Given the description of an element on the screen output the (x, y) to click on. 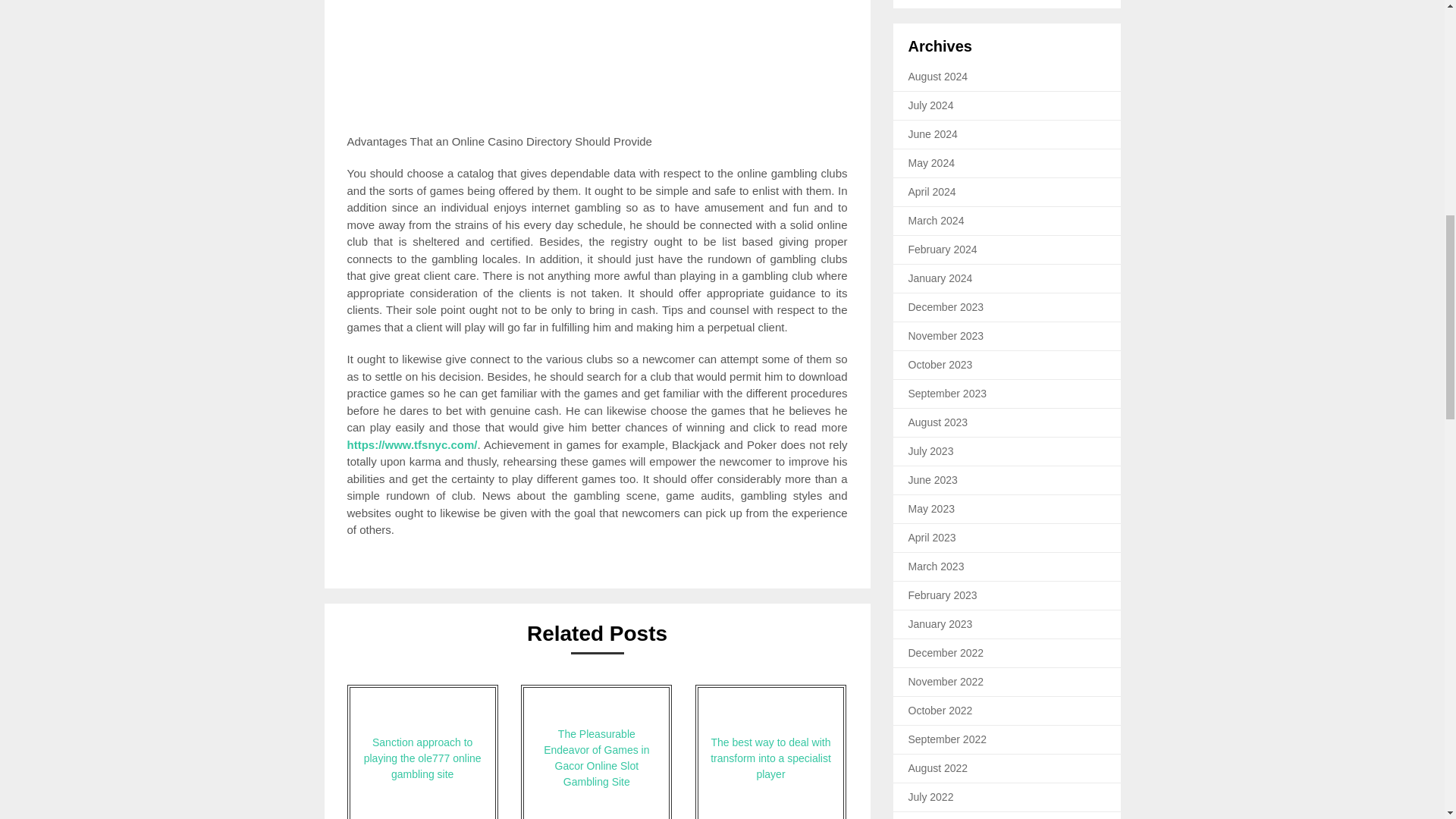
January 2023 (940, 623)
February 2023 (942, 594)
September 2023 (947, 393)
October 2023 (940, 364)
April 2024 (932, 191)
May 2023 (931, 508)
February 2024 (942, 249)
August 2024 (938, 76)
November 2023 (946, 336)
